Given the description of an element on the screen output the (x, y) to click on. 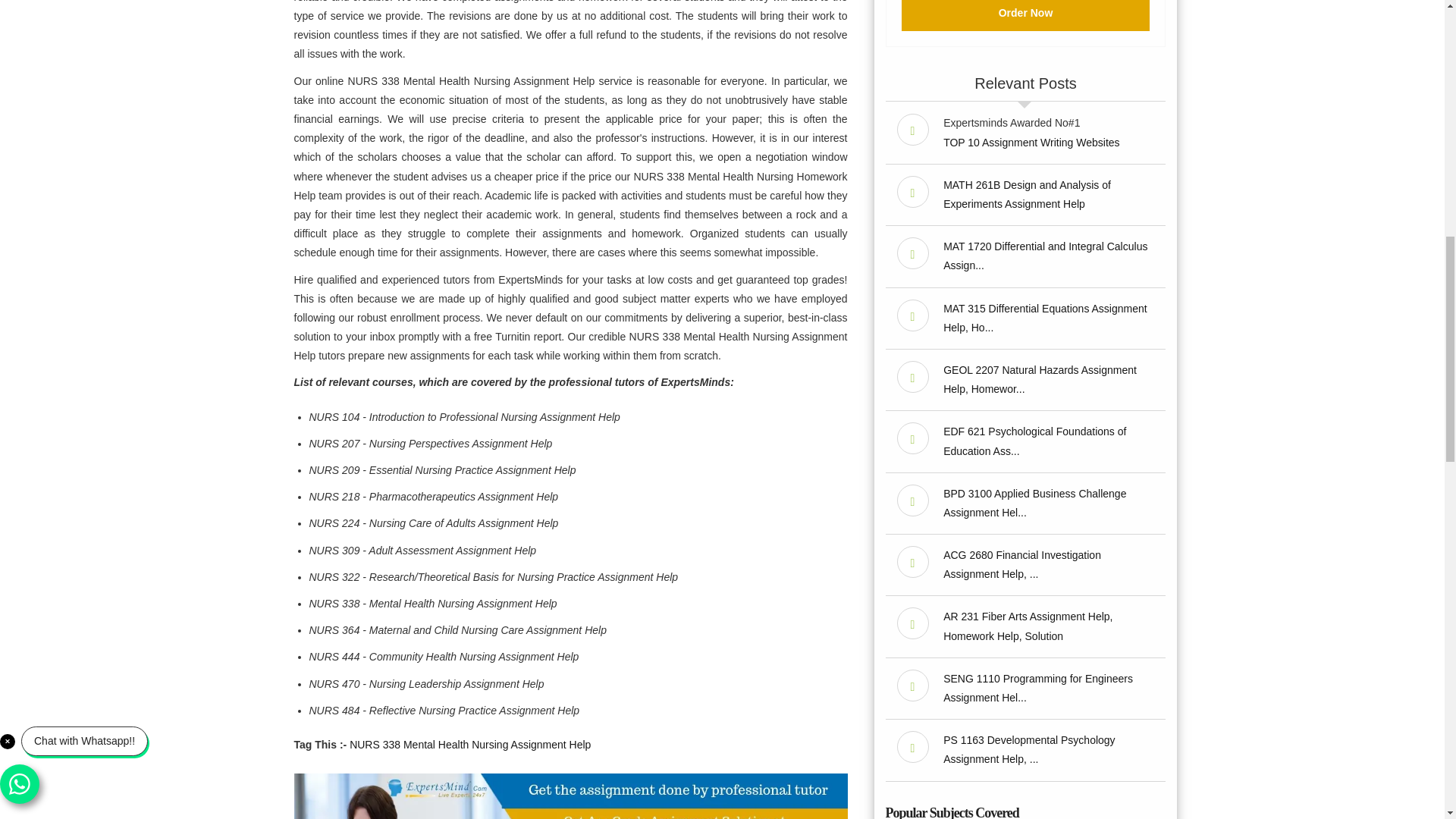
GEOL 2207 Natural Hazards Assignment Help, Homewor... (1040, 378)
EDF 621 Psychological Foundations of Education Ass... (1034, 440)
MAT 315 Differential Equations Assignment Help, Ho... (1045, 317)
MATH 261B Design and Analysis of Experiments Assignment Help (1026, 194)
MAT 1720 Differential and Integral Calculus Assign... (1045, 255)
BPD 3100 Applied Business Challenge Assignment Hel... (1034, 502)
NURS 338 Mental Health Nursing Assignment Help (470, 744)
TOP 10 Assignment Writing Websites (1031, 142)
Order Now (1025, 15)
